Given the description of an element on the screen output the (x, y) to click on. 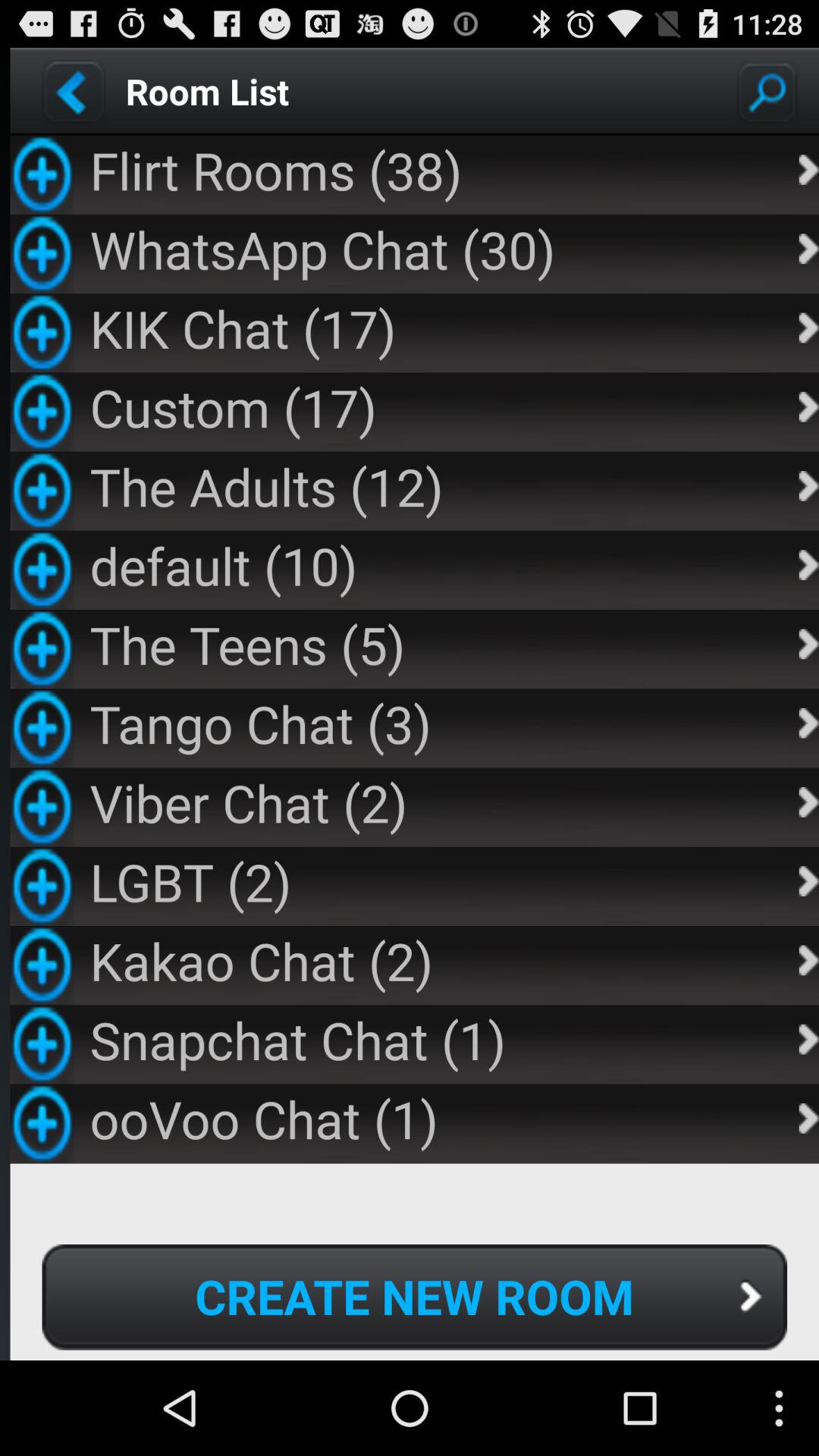
search (767, 91)
